Given the description of an element on the screen output the (x, y) to click on. 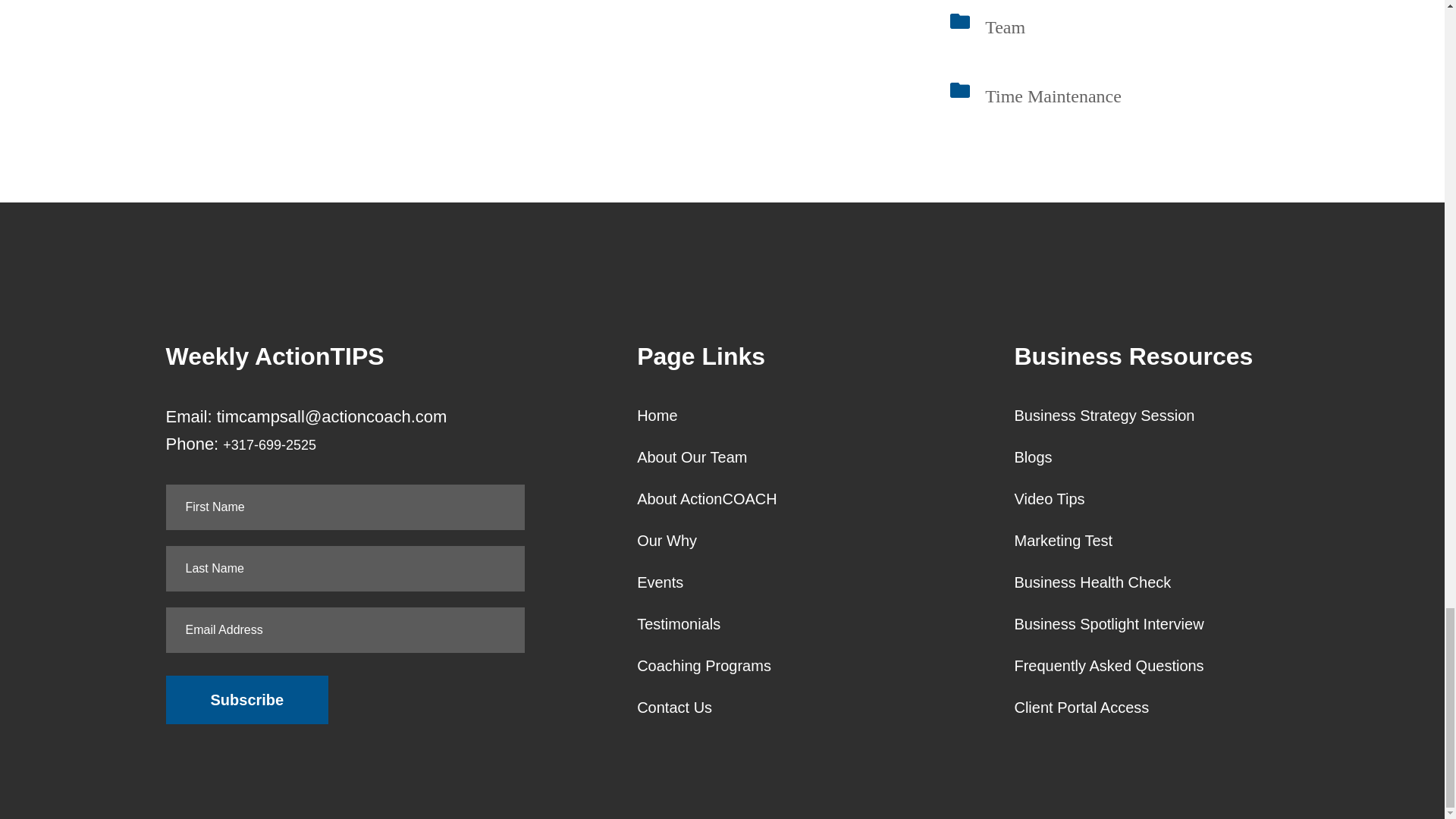
Subscribe (247, 699)
